Given the description of an element on the screen output the (x, y) to click on. 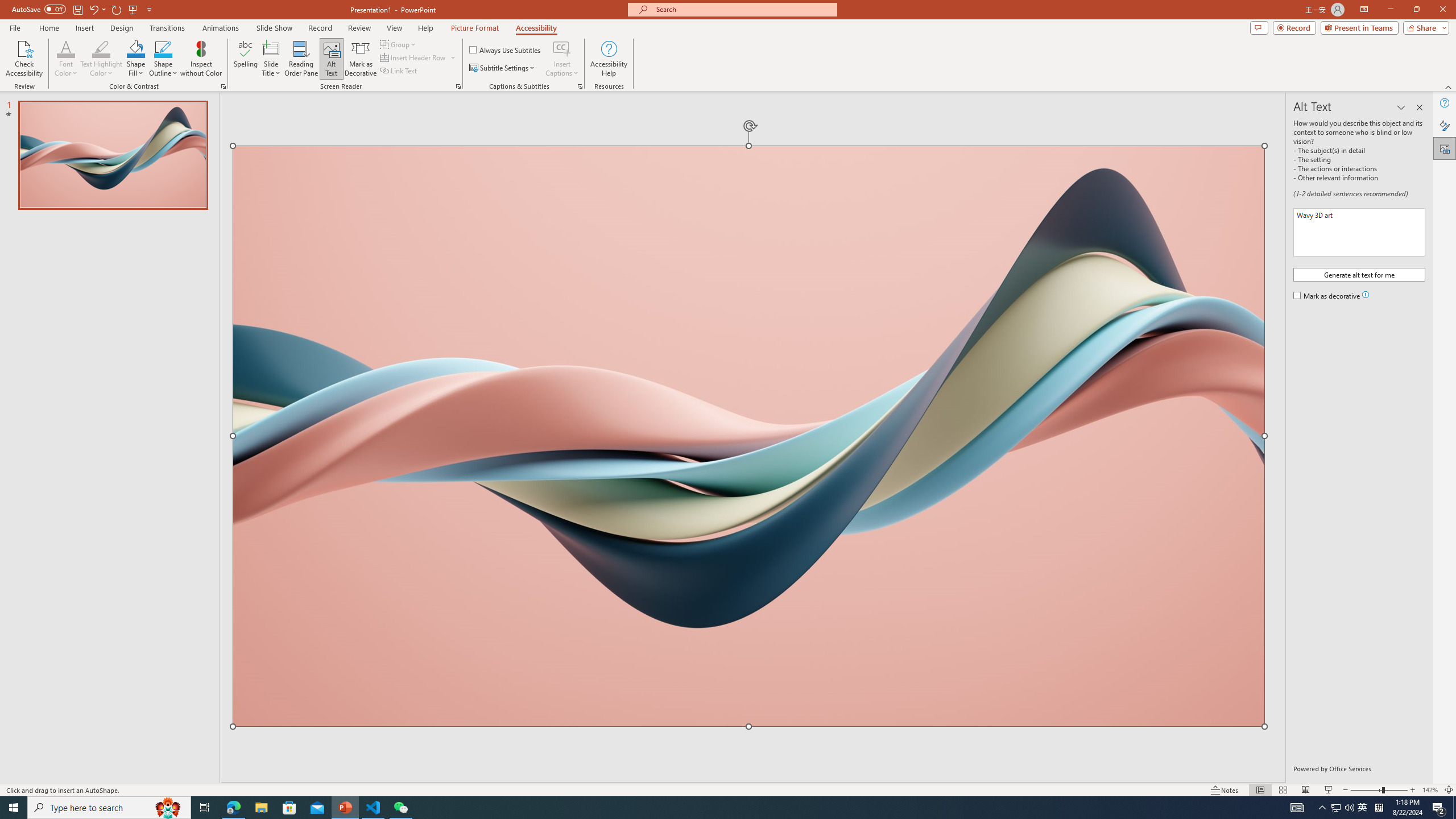
Screen Reader (458, 85)
Description (1358, 231)
Always Use Subtitles (505, 49)
